Given the description of an element on the screen output the (x, y) to click on. 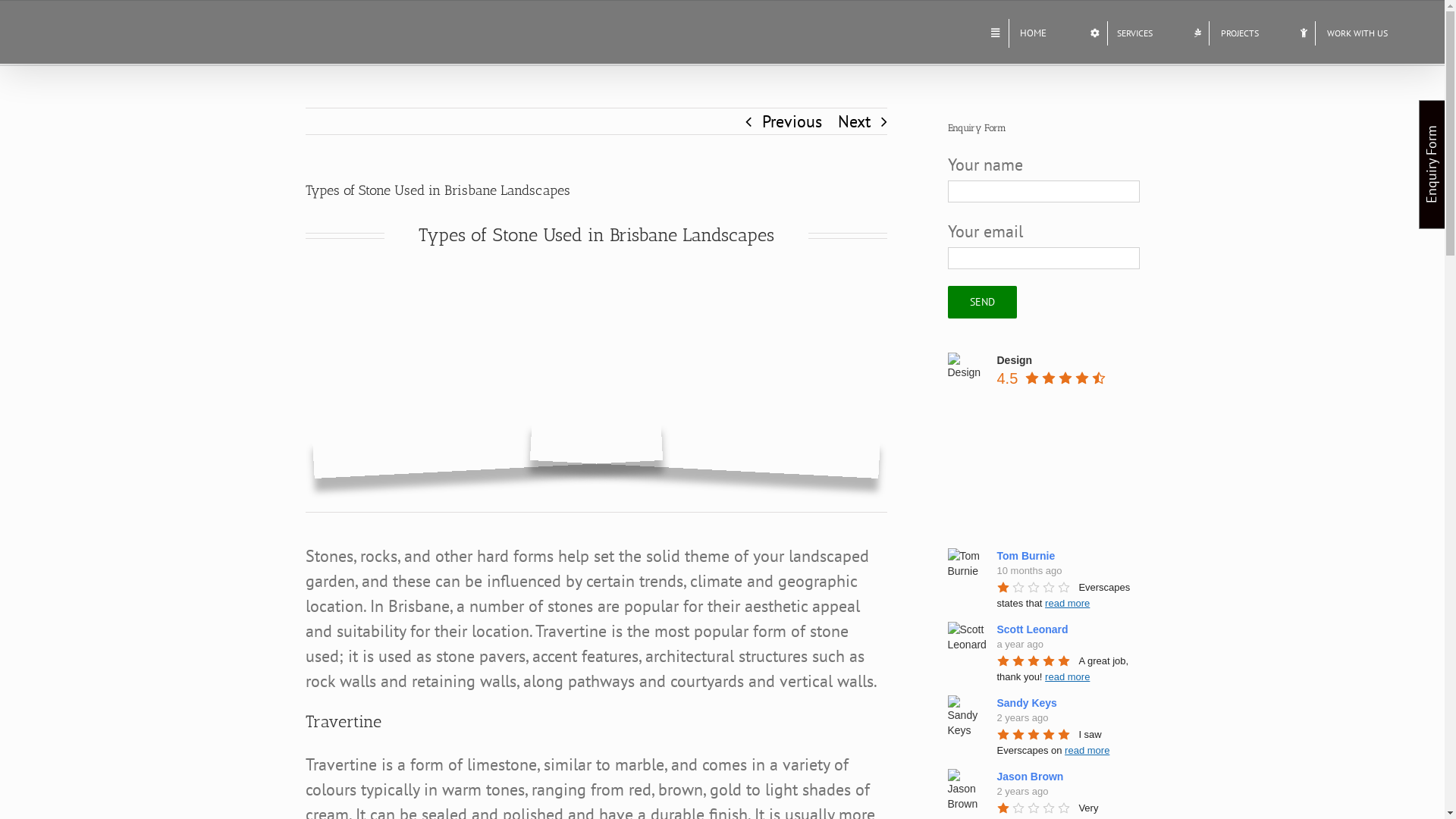
Send Element type: text (981, 301)
PROJECTS Element type: text (1230, 31)
read more Element type: text (1066, 602)
Previous Element type: text (791, 121)
Next Element type: text (853, 121)
SERVICES Element type: text (1124, 31)
Scott Leonard Element type: text (1034, 629)
HOME Element type: text (1022, 31)
read more Element type: text (1066, 676)
Jason Brown Element type: text (1031, 776)
Tom Burnie Element type: text (1027, 555)
read more Element type: text (1086, 750)
Design Element type: text (1014, 360)
WORK WITH US Element type: text (1347, 31)
types-of-stone-brisbane-landscapes Element type: hover (595, 375)
Sandy Keys Element type: text (1028, 702)
